Given the description of an element on the screen output the (x, y) to click on. 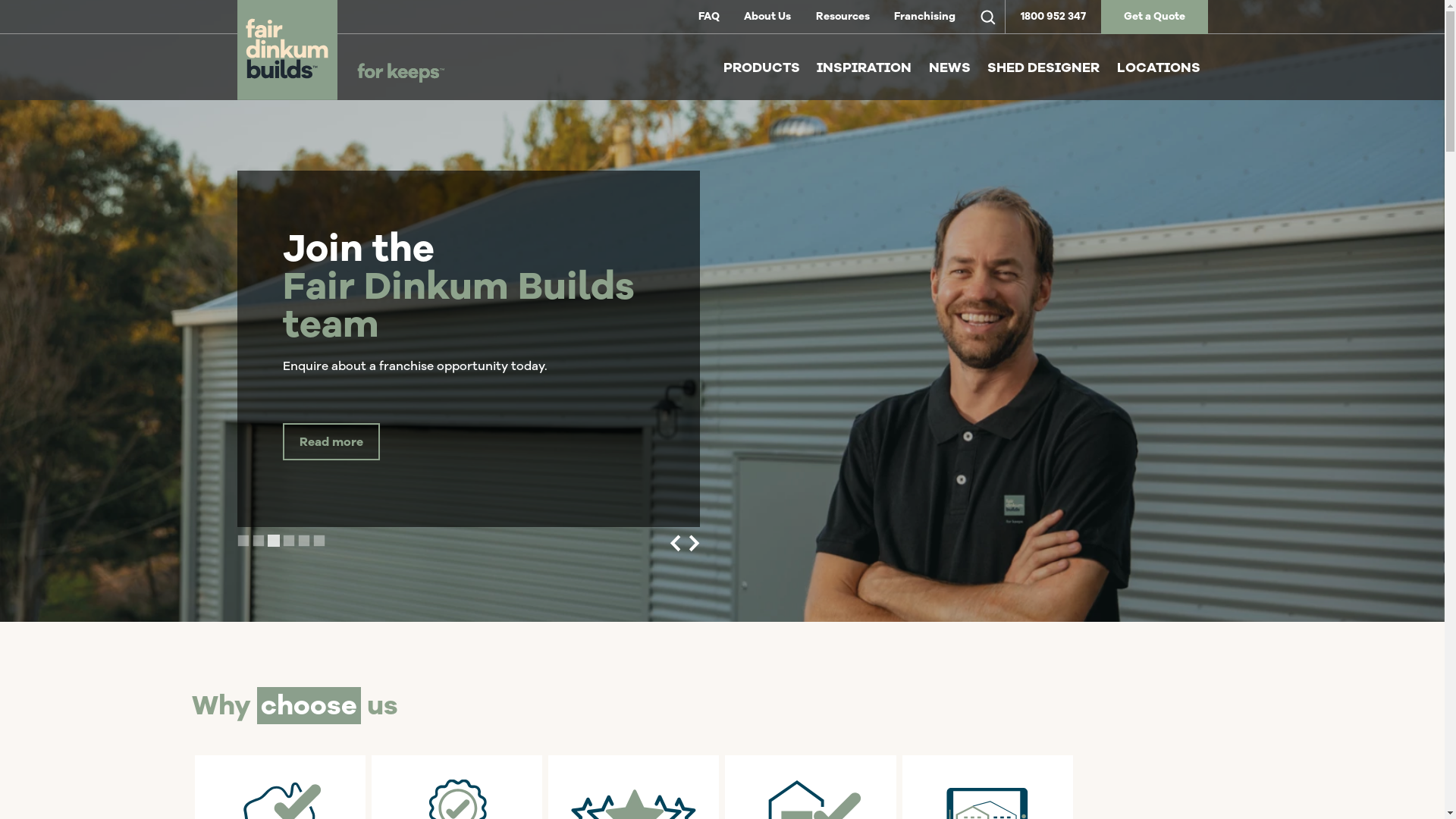
FAQ Element type: text (708, 17)
LOCATIONS Element type: text (1157, 67)
Resources Element type: text (842, 17)
Go Element type: text (25, 18)
Read more Element type: text (330, 441)
PRODUCTS Element type: text (761, 67)
1800 952 347 Element type: text (1052, 17)
Franchising Element type: text (924, 17)
INSPIRATION Element type: text (864, 67)
NEWS Element type: text (948, 67)
Get a Quote Element type: text (1154, 17)
  Element type: text (987, 17)
About Us Element type: text (767, 17)
SHED DESIGNER Element type: text (1043, 67)
